Given the description of an element on the screen output the (x, y) to click on. 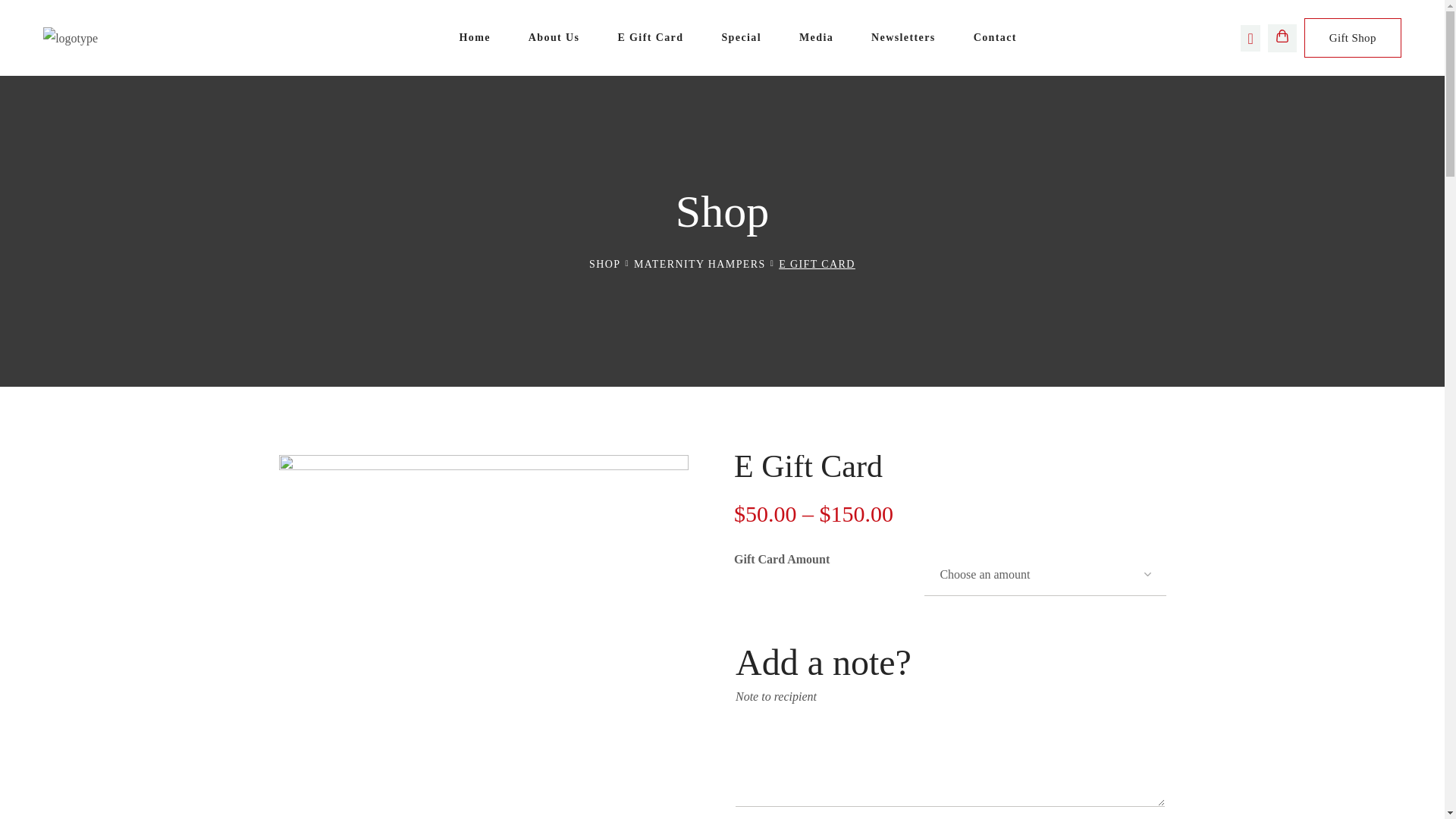
Gift Shop Element type: text (1352, 37)
Special Element type: text (741, 37)
SHOP Element type: text (604, 263)
Home Element type: text (473, 37)
E Gift Card Element type: text (650, 37)
Media Element type: text (816, 37)
Newsletters Element type: text (903, 37)
About Us Element type: text (554, 37)
MATERNITY HAMPERS Element type: text (699, 263)
Contact Element type: text (994, 37)
